Given the description of an element on the screen output the (x, y) to click on. 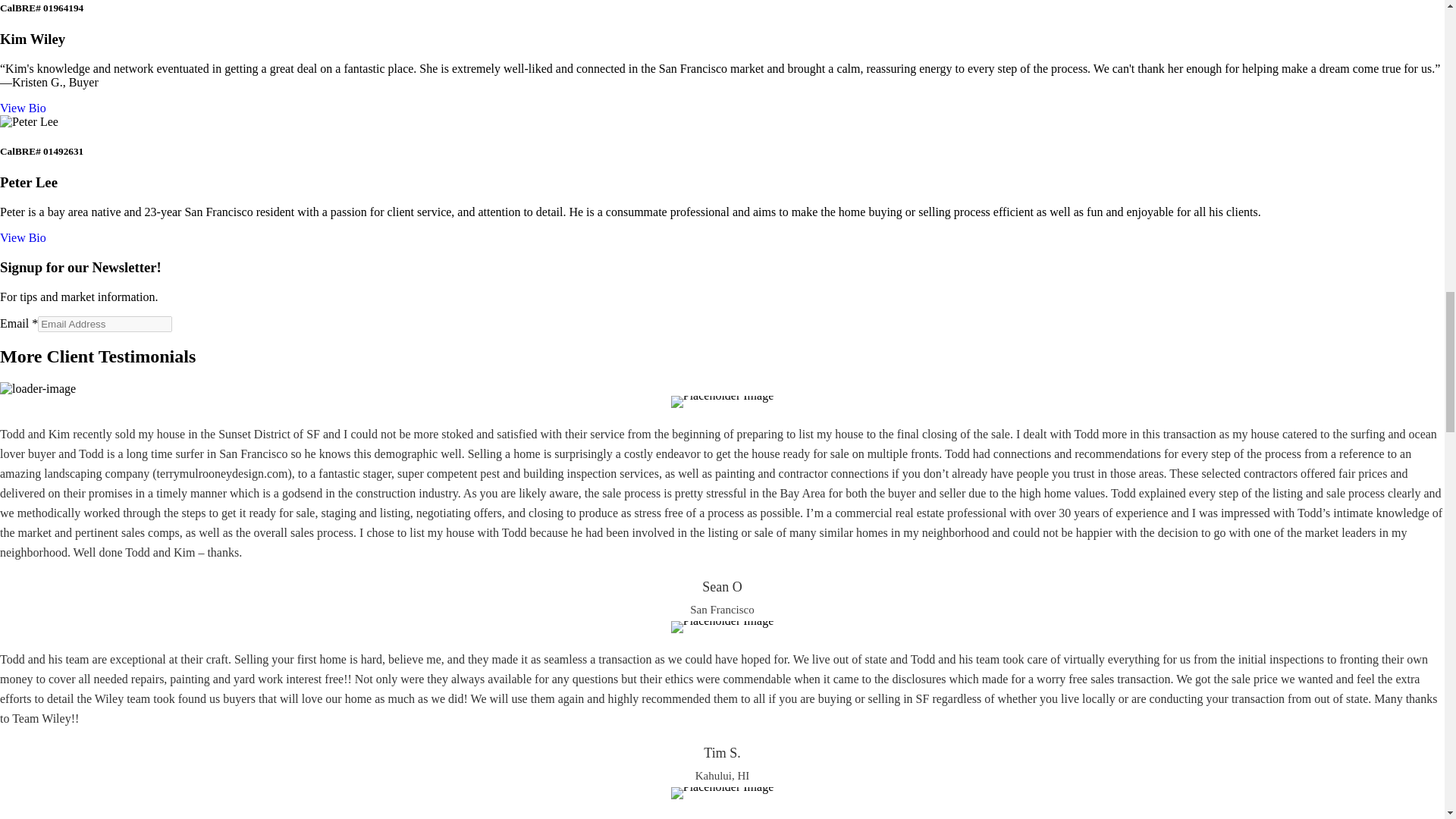
View Bio (23, 237)
Peter Lee (29, 121)
View Bio (23, 107)
